Given the description of an element on the screen output the (x, y) to click on. 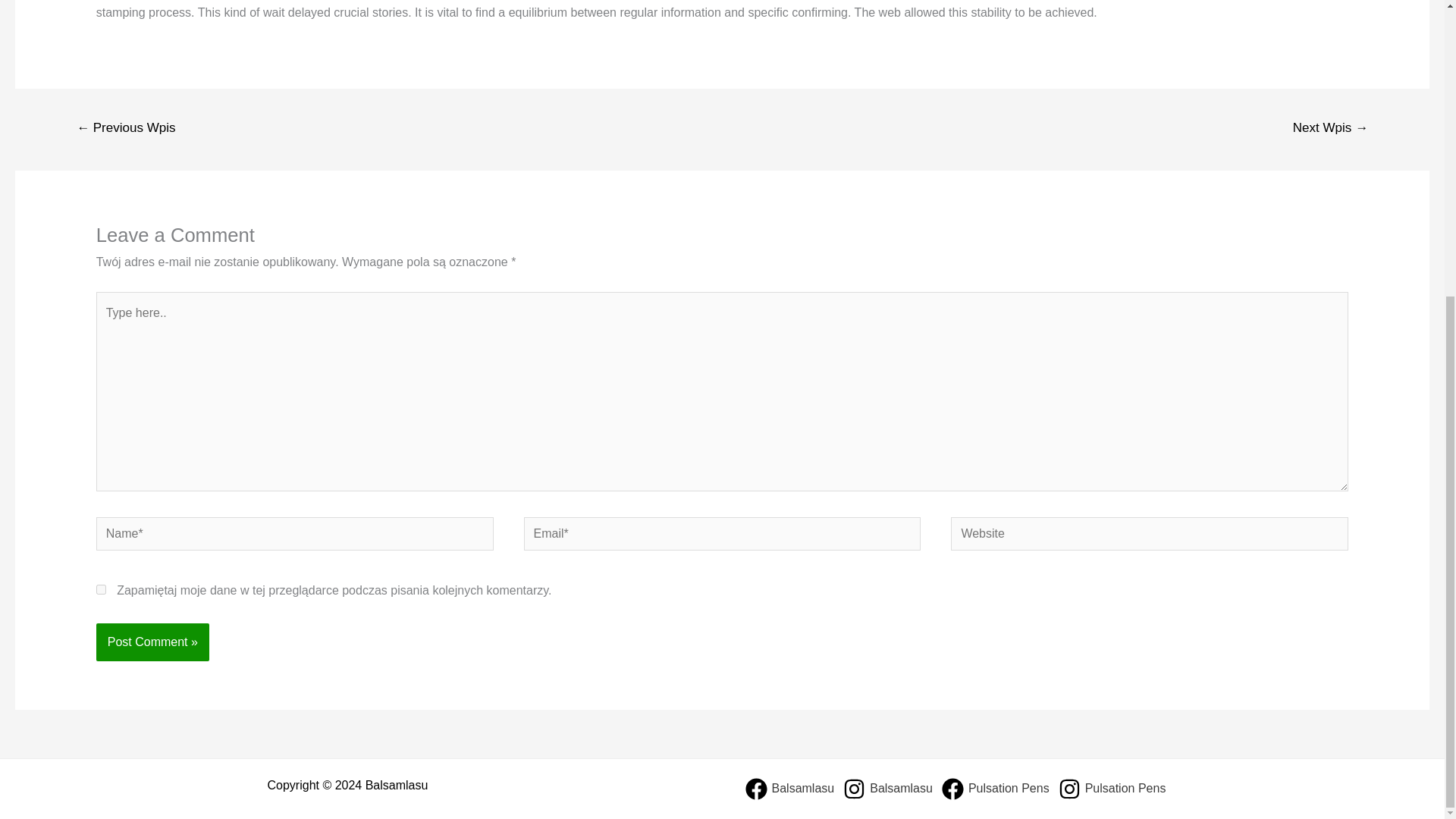
Balsamlasu (888, 788)
Pulsation Pens (994, 788)
Pulsation Pens (1112, 788)
yes (101, 589)
Balsamlasu (789, 788)
